Given the description of an element on the screen output the (x, y) to click on. 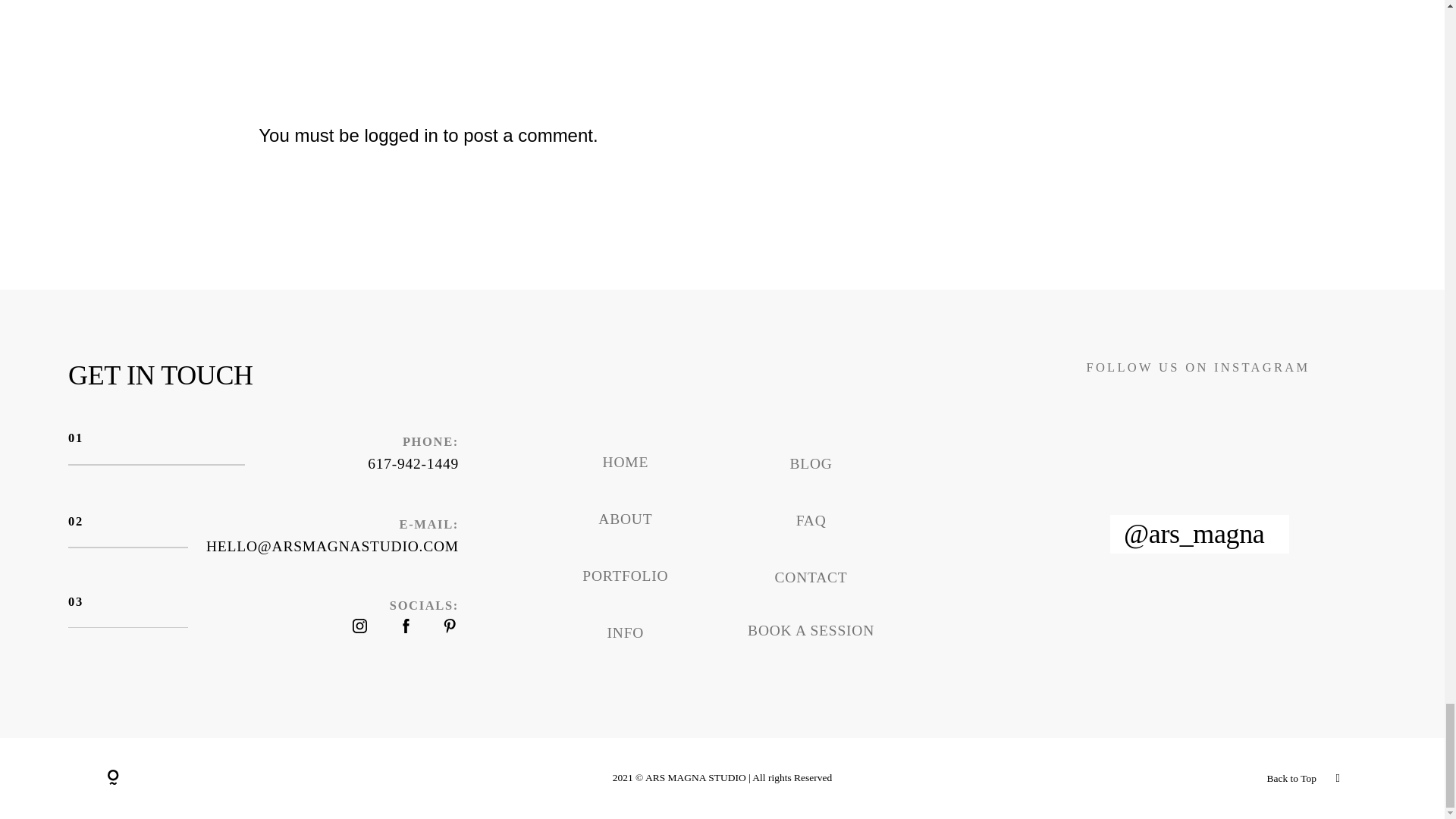
PORTFOLIO (625, 575)
FAQ (811, 520)
BLOG (810, 463)
HOME (625, 462)
Back to Top (1291, 778)
ABOUT (625, 519)
Sorry, your browser does not support inline SVG. (112, 777)
Back to Top (1135, 778)
logged in (401, 135)
